Given the description of an element on the screen output the (x, y) to click on. 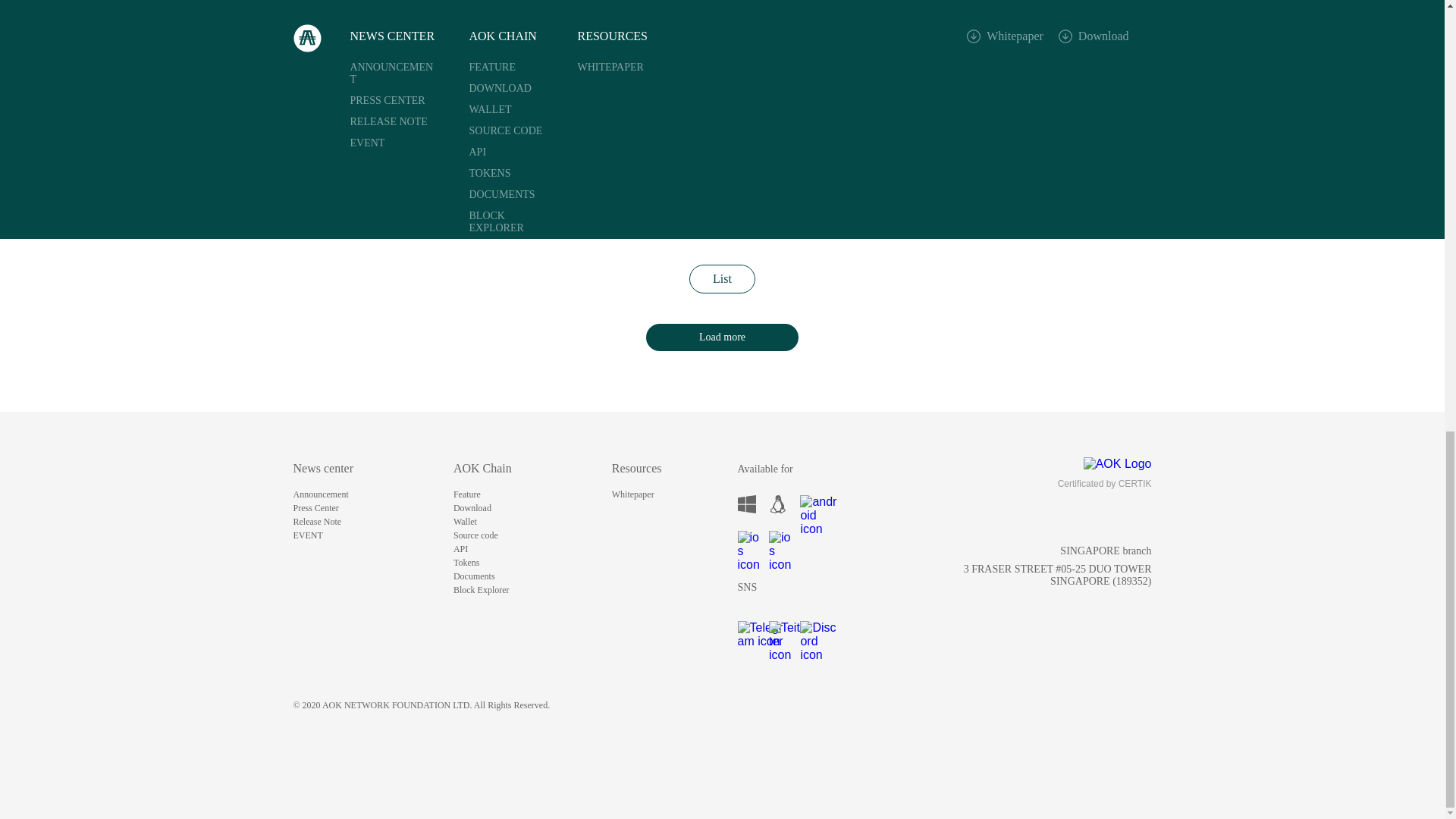
new window (808, 504)
new window (745, 629)
new window (777, 504)
List (721, 278)
new window (777, 629)
new window (777, 539)
new window (745, 539)
new window (745, 504)
